Given the description of an element on the screen output the (x, y) to click on. 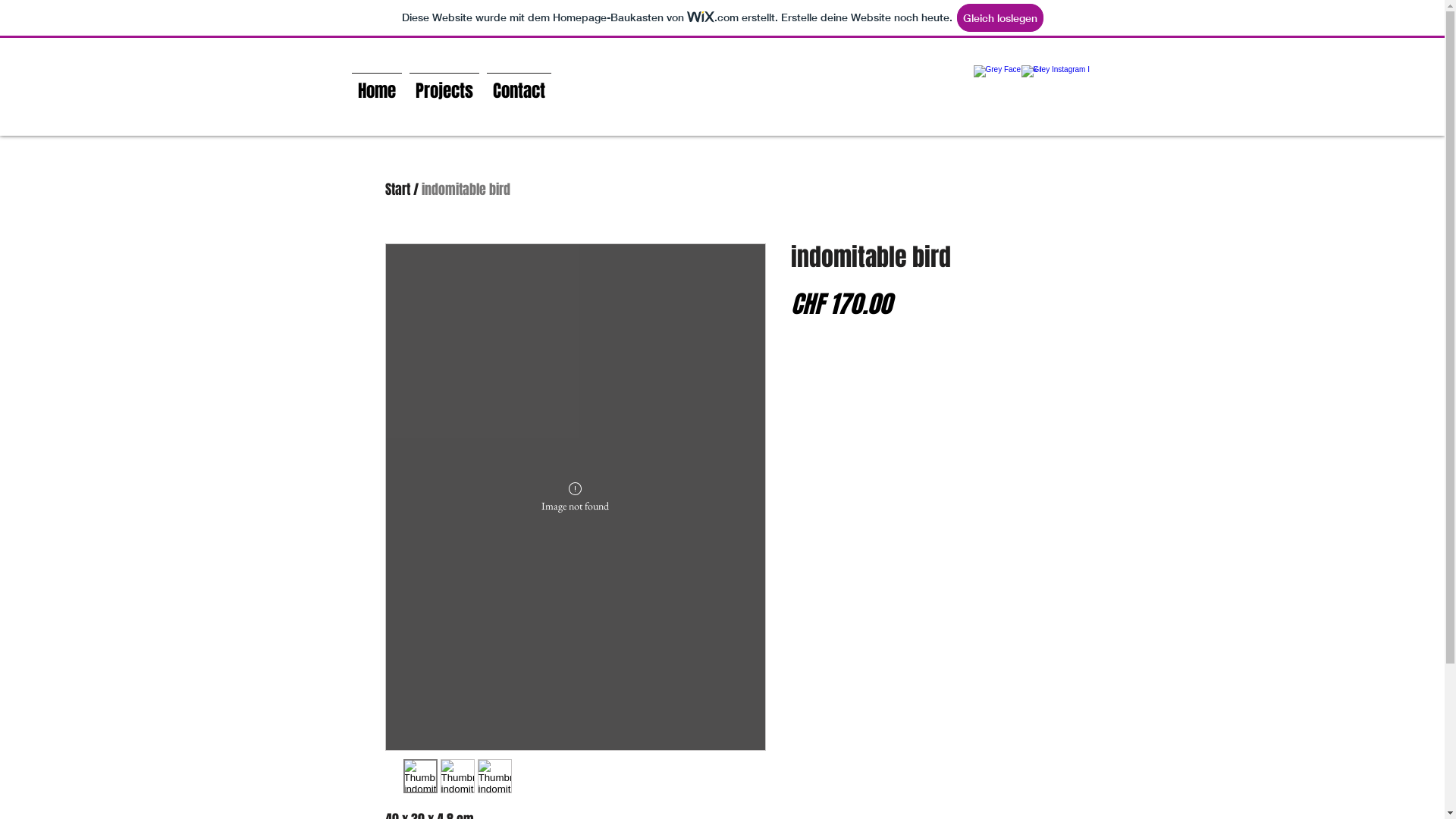
Projects Element type: text (443, 83)
Start Element type: text (397, 189)
Contact Element type: text (518, 83)
indomitable bird Element type: text (465, 189)
Home Element type: text (375, 83)
